Given the description of an element on the screen output the (x, y) to click on. 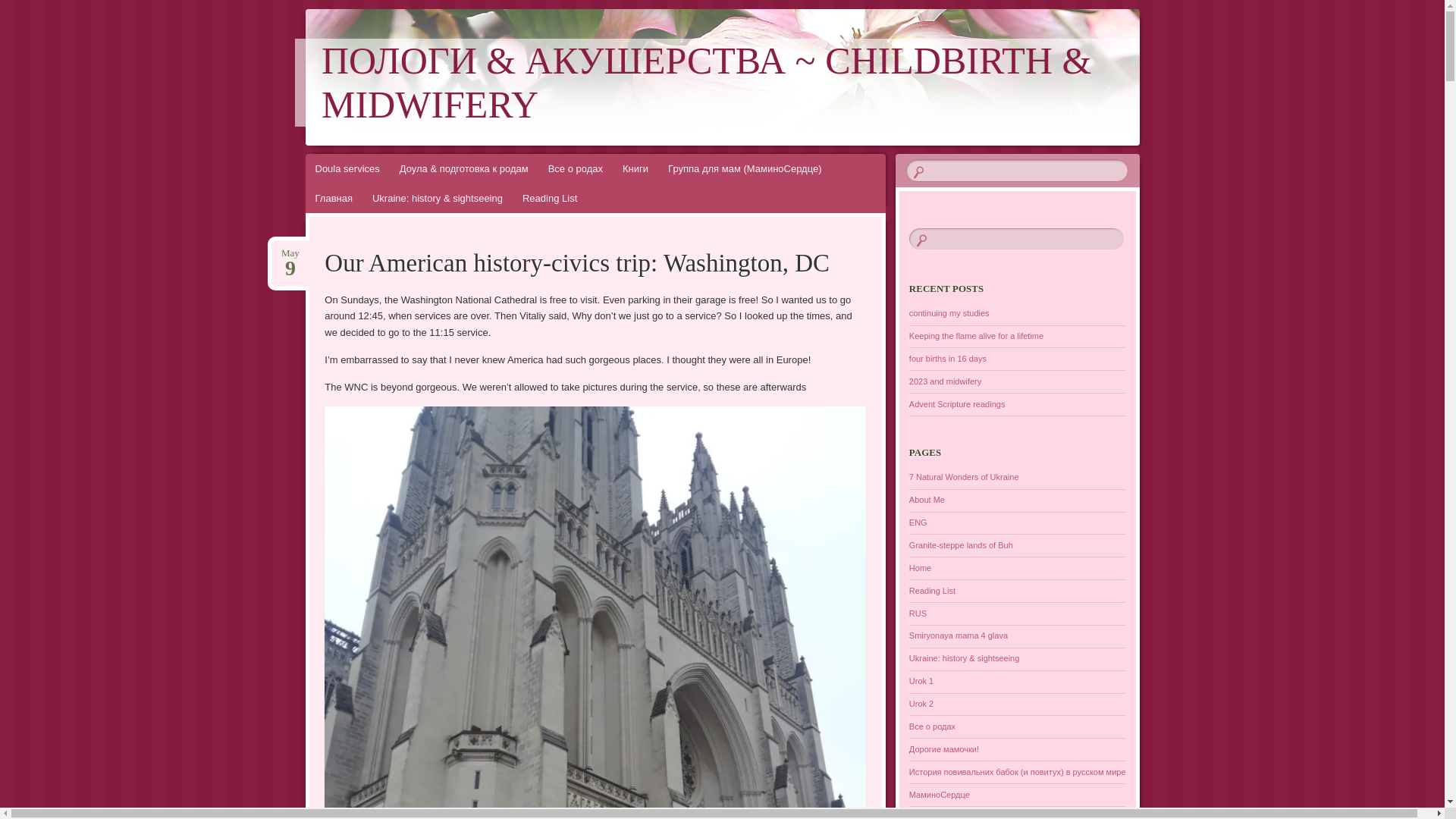
Advent Scripture readings (957, 403)
Doula services (346, 168)
Keeping the flame alive for a lifetime (975, 335)
Search (21, 7)
Reading List (549, 197)
continuing my studies (949, 312)
four births in 16 days (947, 358)
May 9, 2019 (289, 253)
2023 and midwifery (944, 380)
About Me (926, 499)
